Given the description of an element on the screen output the (x, y) to click on. 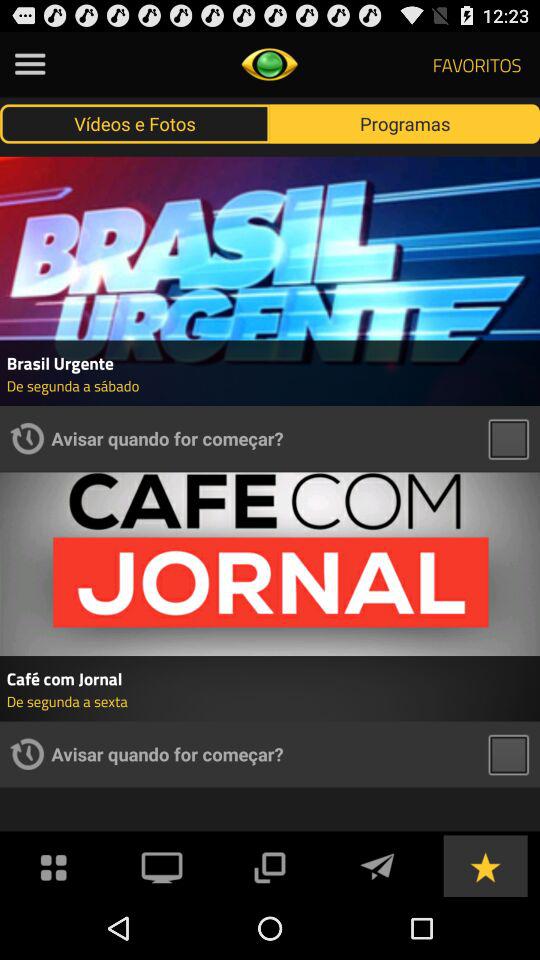
press the option button (29, 64)
